Given the description of an element on the screen output the (x, y) to click on. 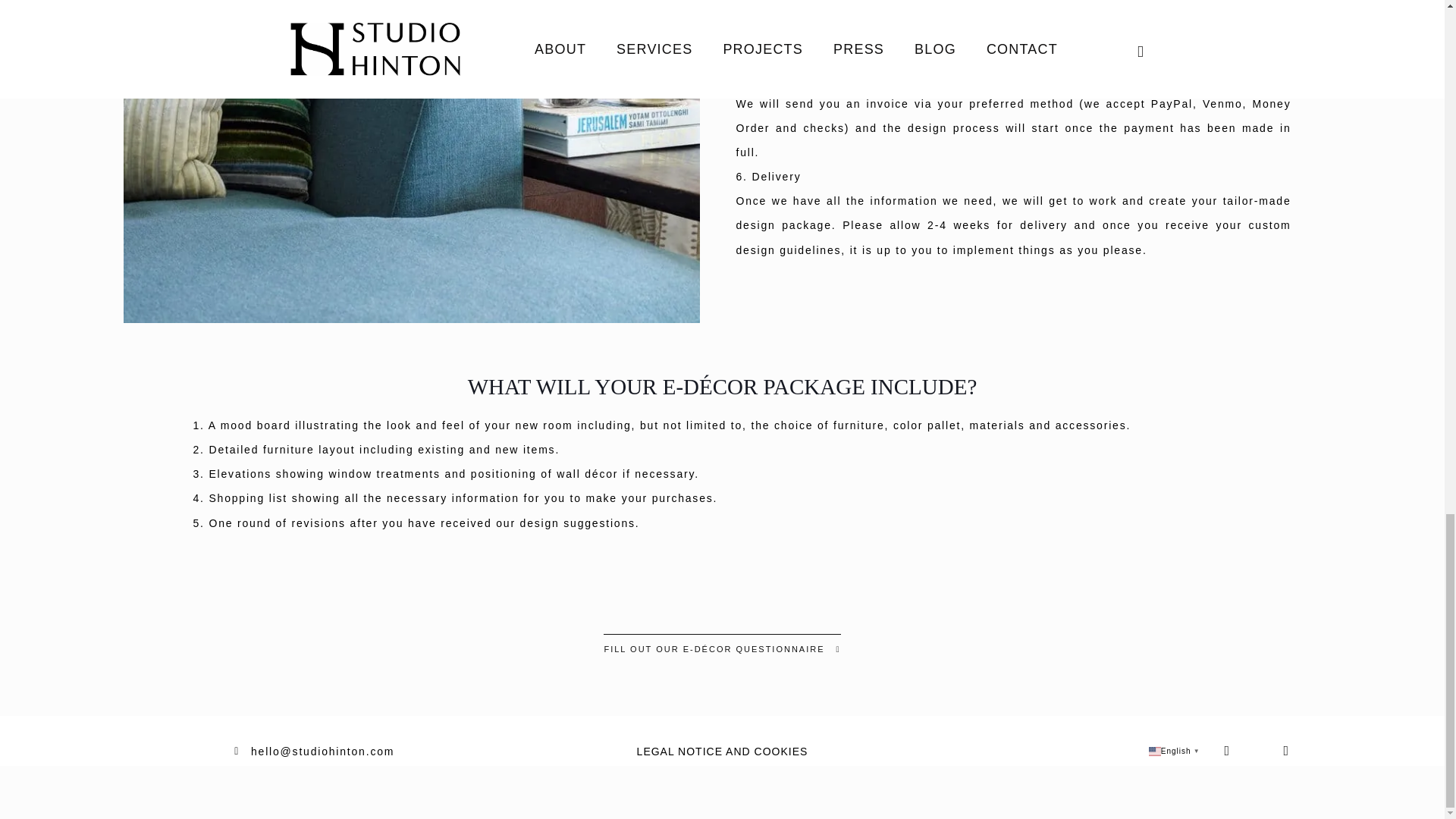
LEGAL NOTICE AND COOKIES (722, 751)
